Given the description of an element on the screen output the (x, y) to click on. 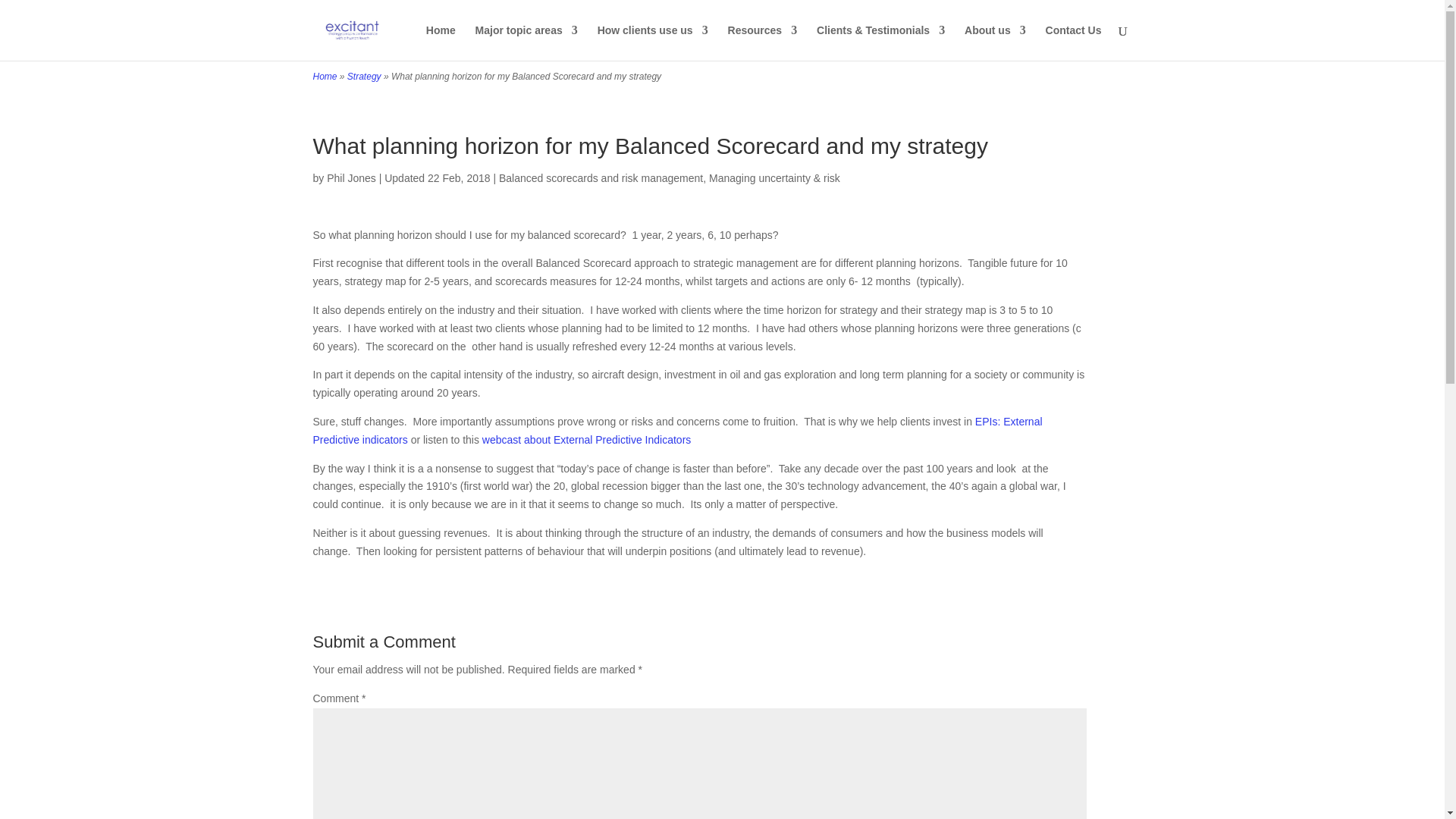
How clients use us (651, 42)
Resources (762, 42)
Major topic areas (527, 42)
